Given the description of an element on the screen output the (x, y) to click on. 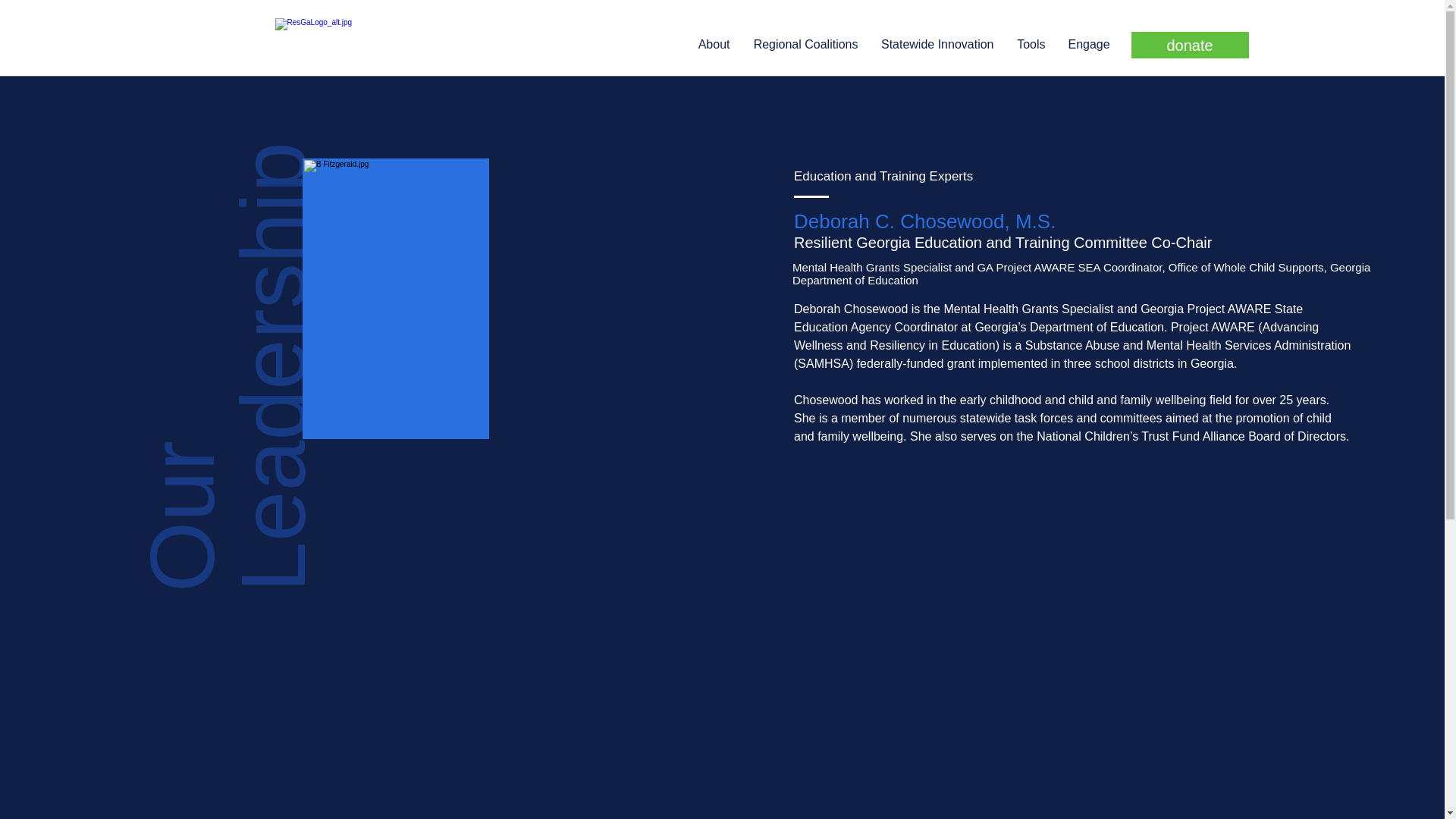
Tools (1031, 44)
Regional Coalitions (805, 44)
donate (1190, 44)
